Given the description of an element on the screen output the (x, y) to click on. 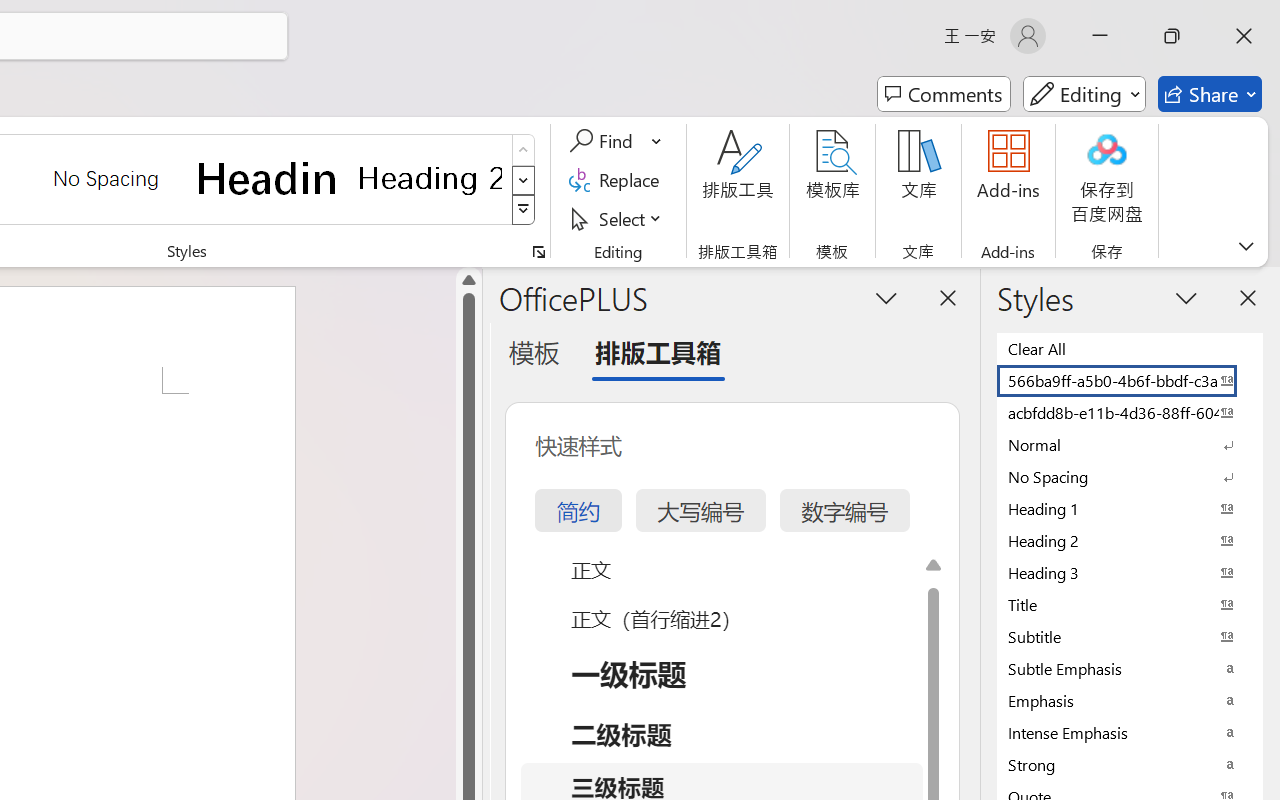
Emphasis (1130, 700)
Class: NetUIImage (523, 210)
Heading 1 (267, 178)
Normal (1130, 444)
Title (1130, 604)
Styles... (538, 252)
Find (604, 141)
Restore Down (1172, 36)
Close (1244, 36)
Row up (523, 150)
Clear All (1130, 348)
Find (616, 141)
